Given the description of an element on the screen output the (x, y) to click on. 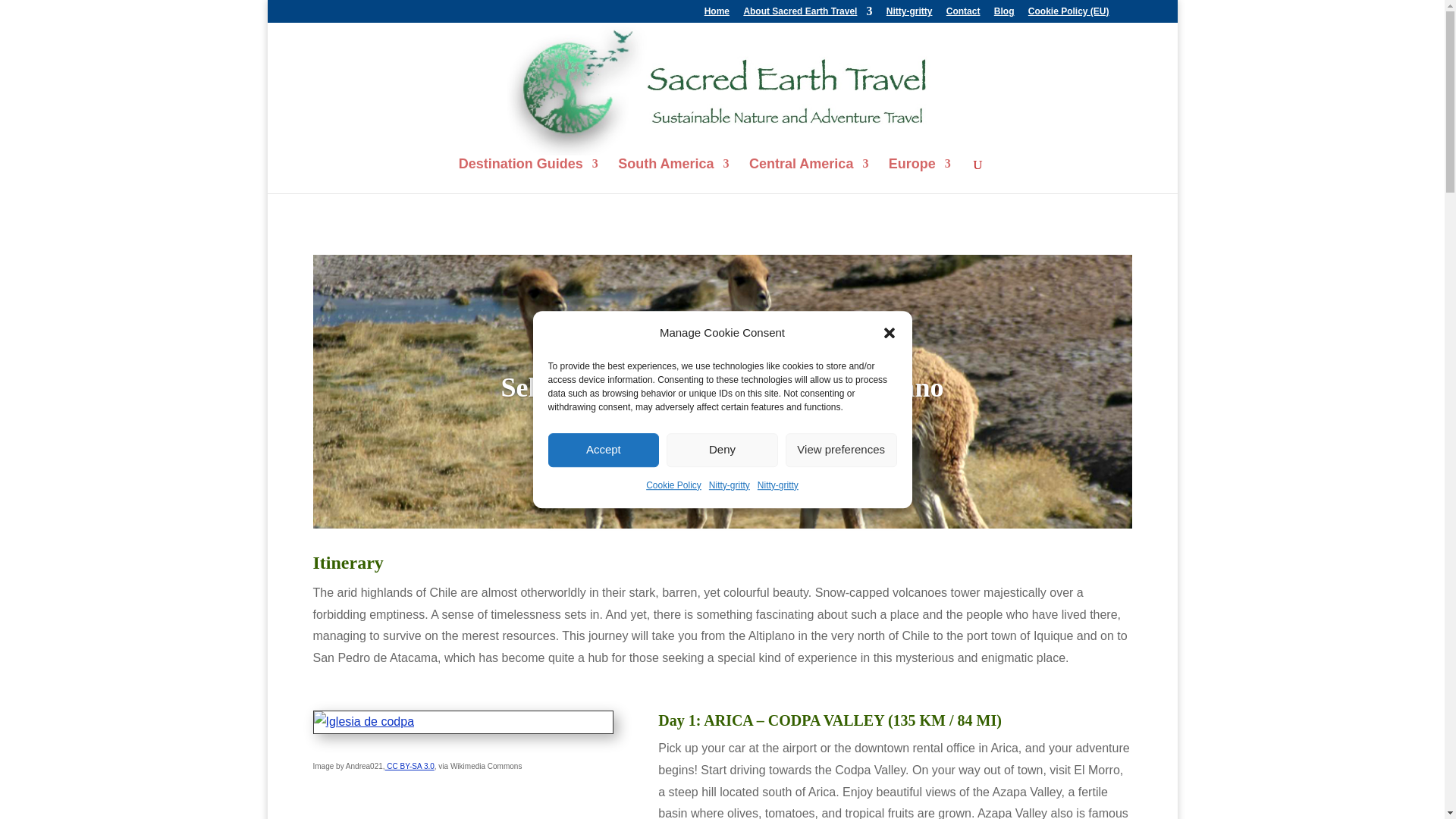
Contact (962, 14)
Destination Guides (528, 175)
Cookie Policy (673, 485)
Accept (603, 449)
Nitty-gritty (909, 14)
Home (716, 14)
About Sacred Earth Travel (807, 14)
Deny (721, 449)
Nitty-gritty (777, 485)
Nitty-gritty (729, 485)
South America (673, 175)
Blog (1004, 14)
View preferences (841, 449)
